Given the description of an element on the screen output the (x, y) to click on. 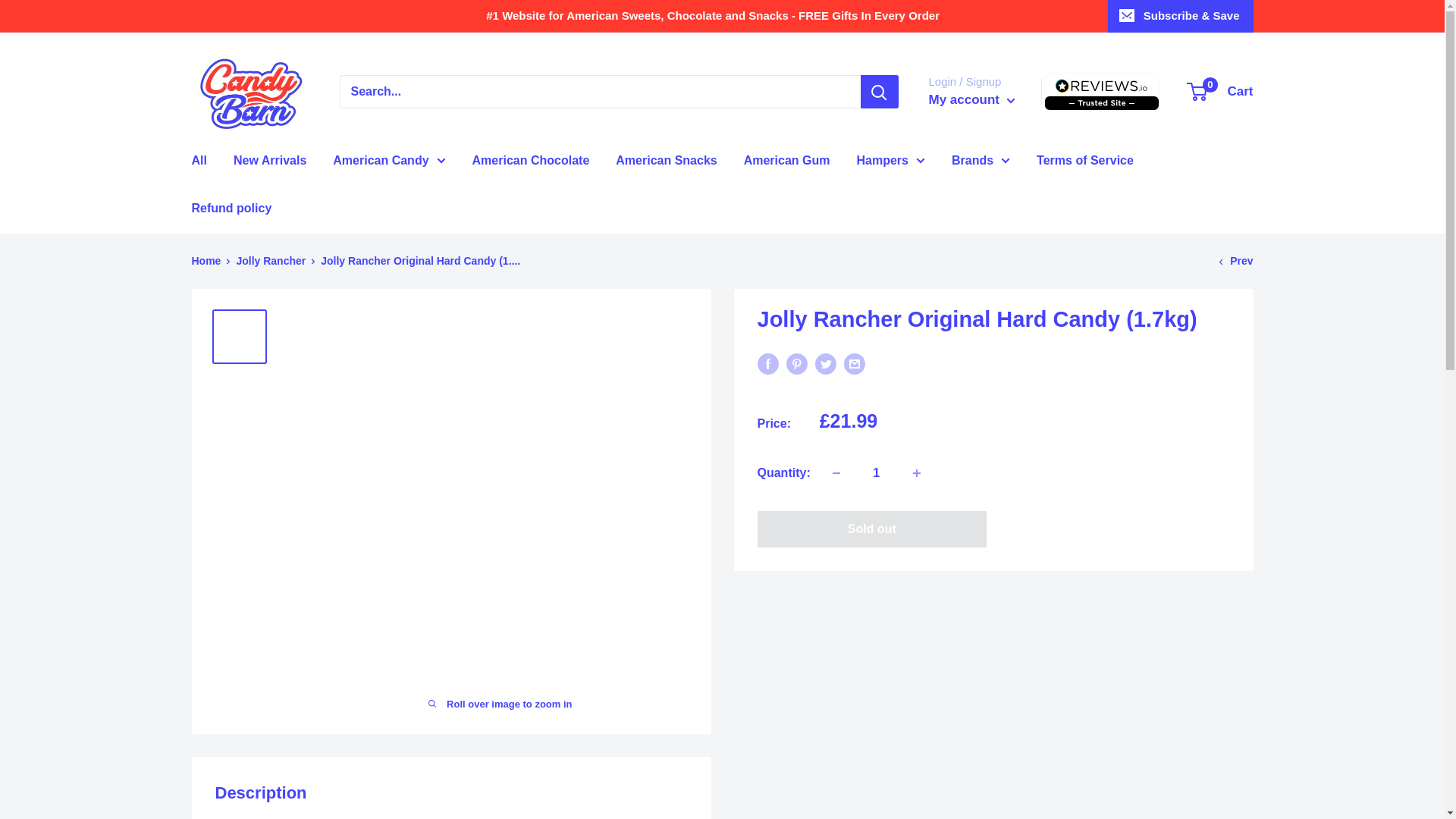
Decrease quantity by 1 (836, 472)
Increase quantity by 1 (917, 472)
1 (876, 472)
